Given the description of an element on the screen output the (x, y) to click on. 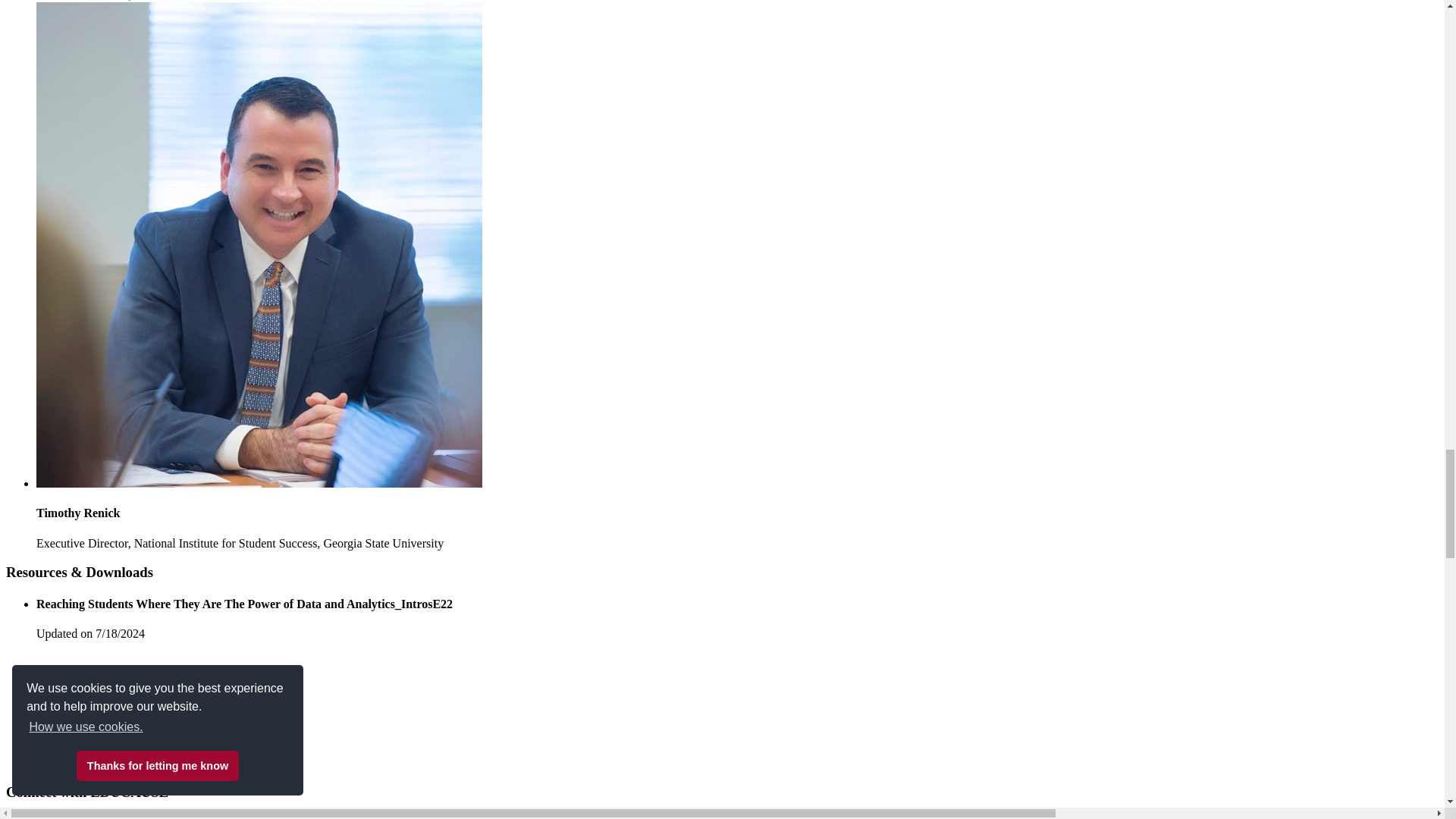
Educause.edu (118, 762)
EDUCAUSE (118, 709)
